Given the description of an element on the screen output the (x, y) to click on. 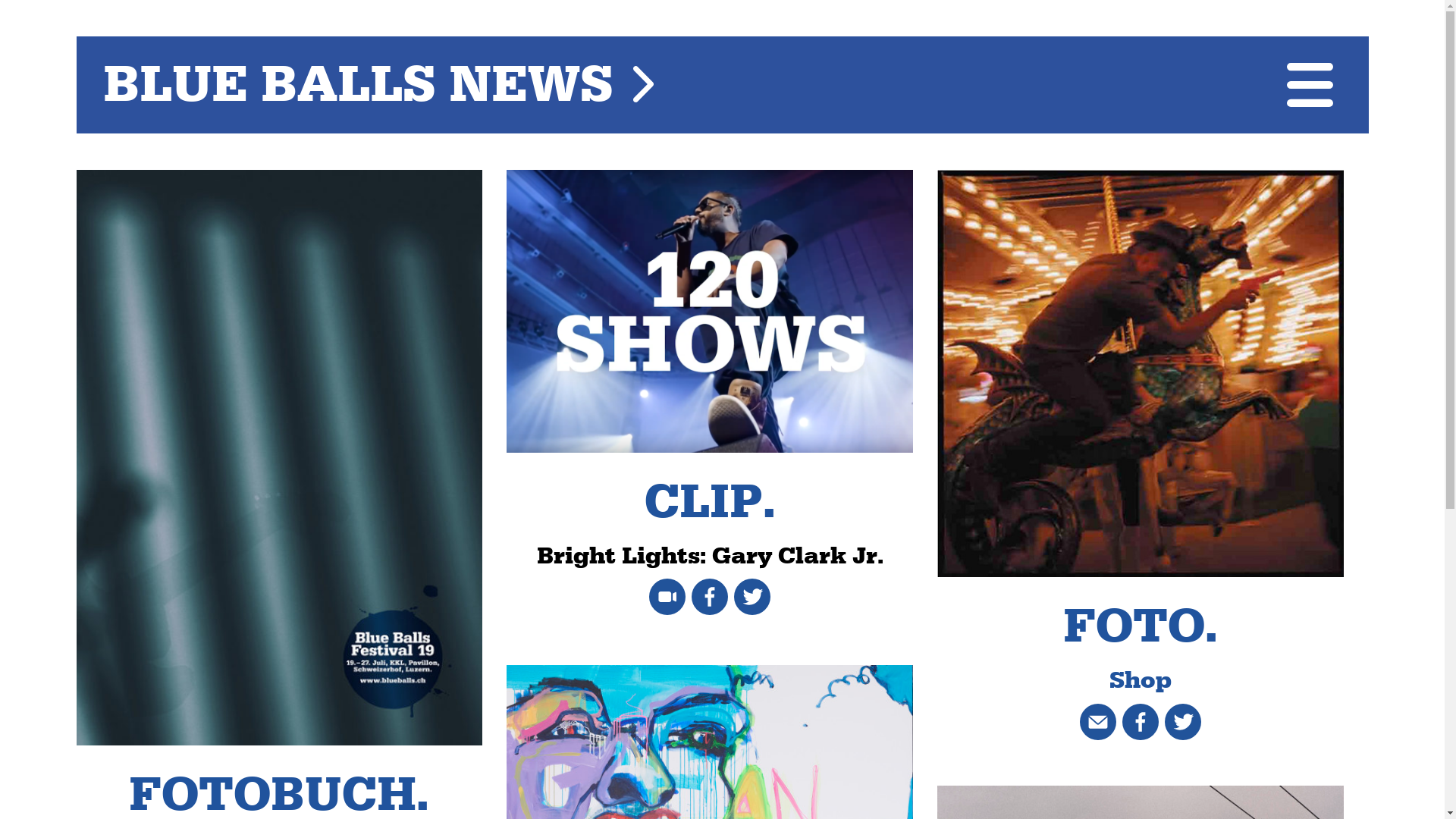
CLIP. Element type: text (709, 503)
Send E-Mail Element type: hover (1100, 718)
Share on Facebook Element type: hover (712, 592)
Share on Facebook Element type: hover (1140, 718)
Share on Twitter Element type: hover (1182, 718)
Video Element type: hover (670, 592)
Shop Element type: text (1140, 680)
BLUE BALLS NEWS Element type: text (378, 85)
Share on Twitter Element type: hover (752, 592)
